Given the description of an element on the screen output the (x, y) to click on. 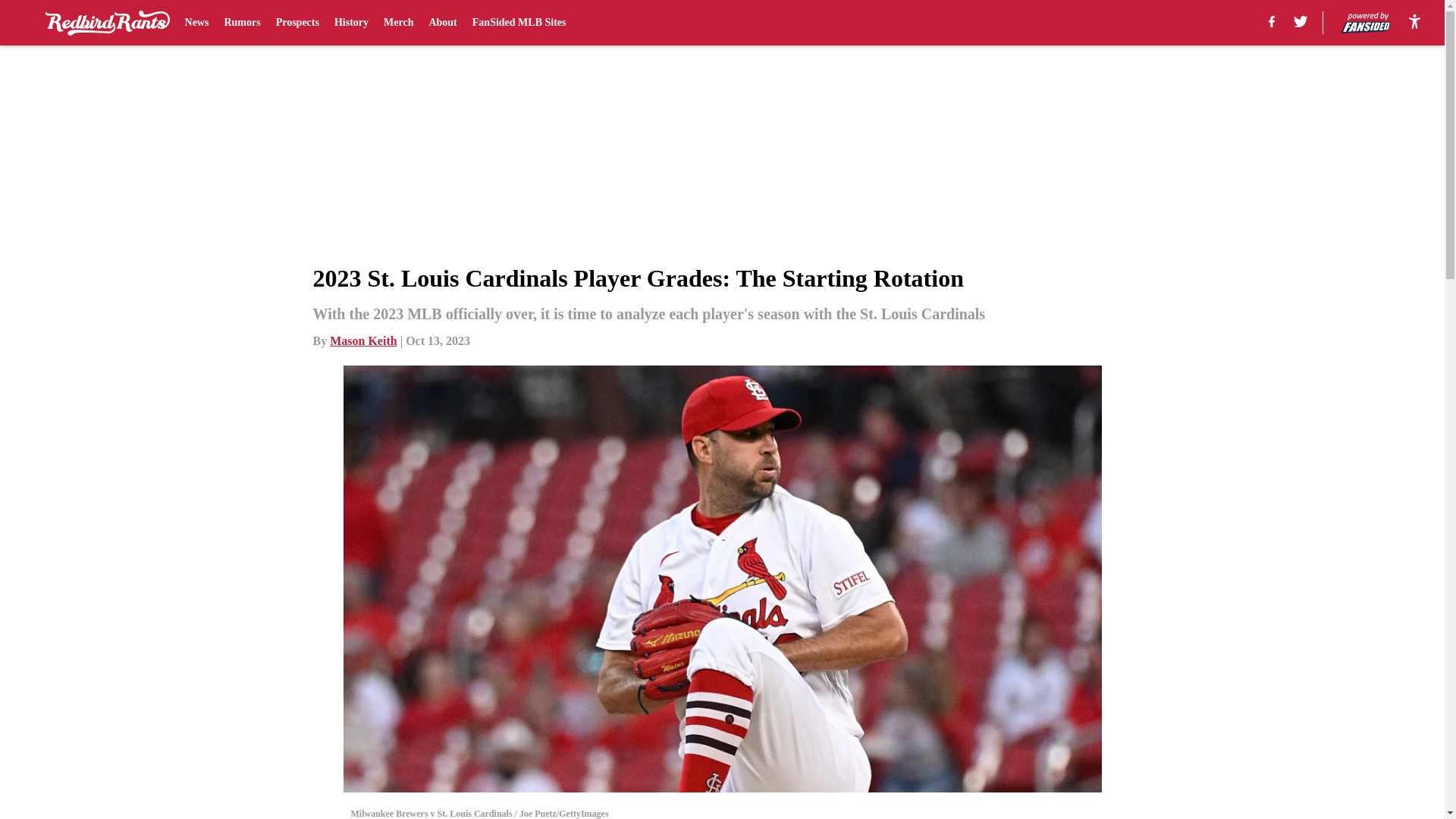
News (196, 22)
FanSided MLB Sites (518, 22)
History (351, 22)
About (442, 22)
Mason Keith (363, 340)
Merch (398, 22)
Prospects (297, 22)
Rumors (242, 22)
